Given the description of an element on the screen output the (x, y) to click on. 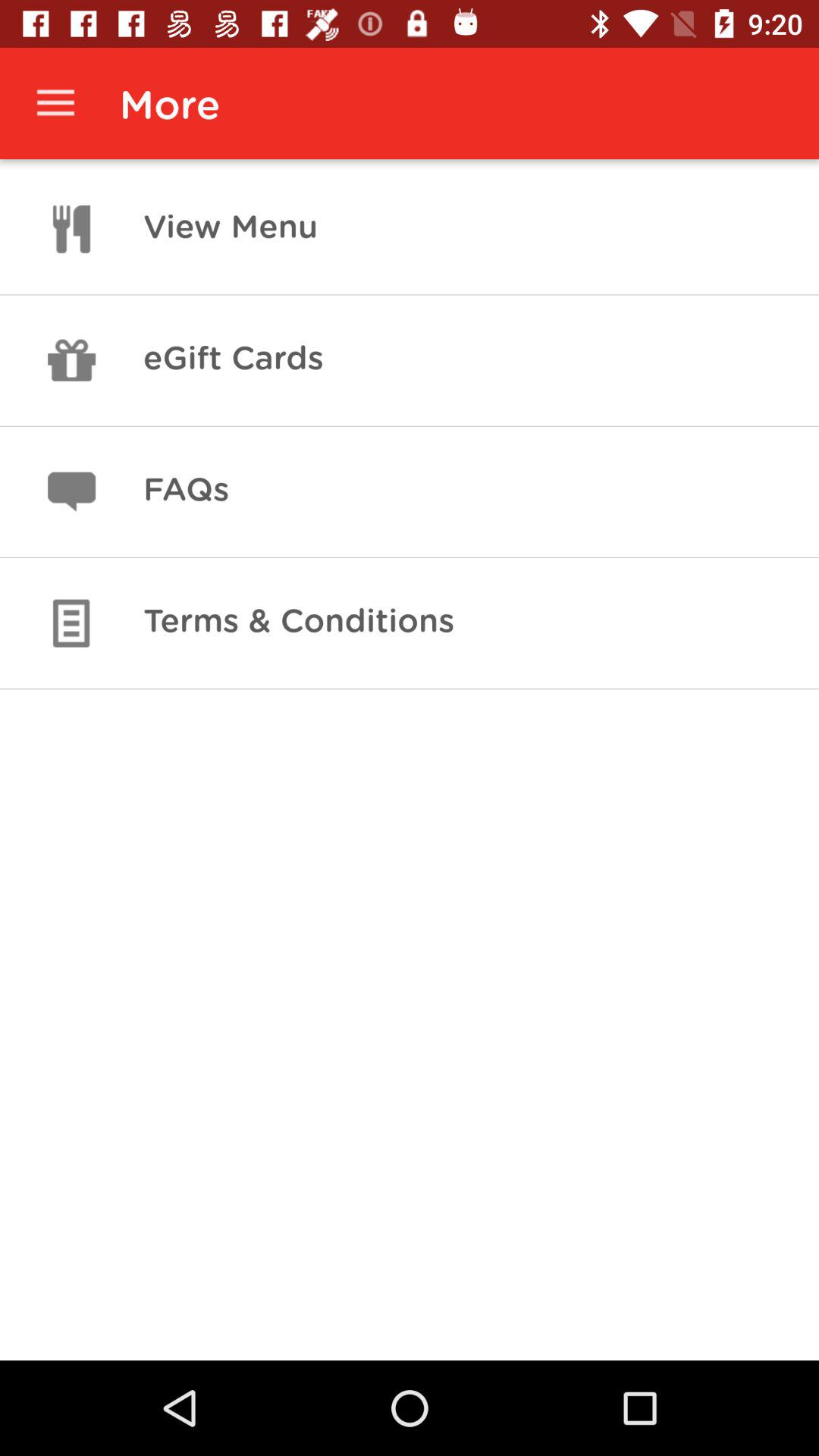
choose terms & conditions icon (298, 622)
